Given the description of an element on the screen output the (x, y) to click on. 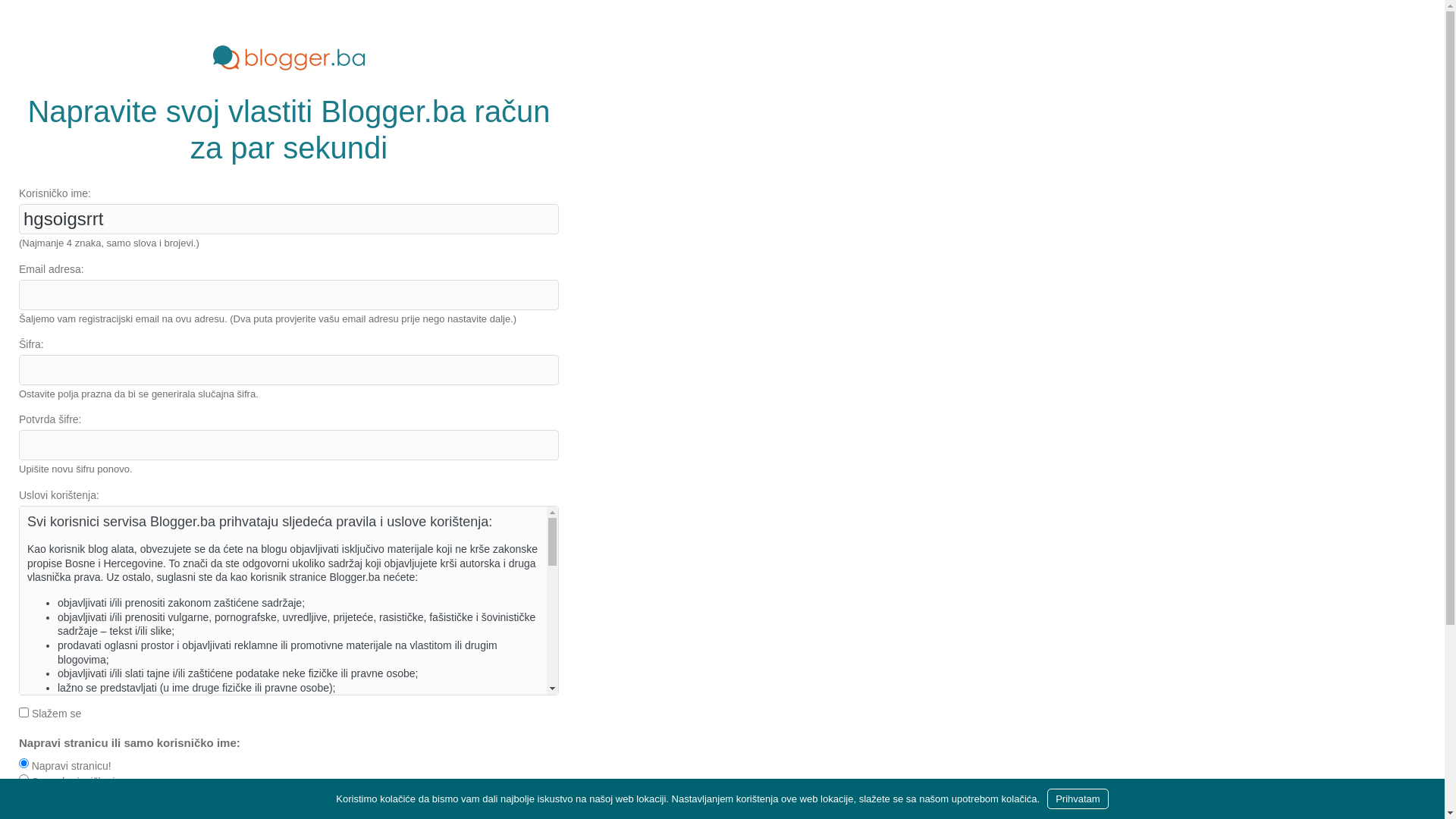
Prihvatam Element type: text (1077, 798)
